Given the description of an element on the screen output the (x, y) to click on. 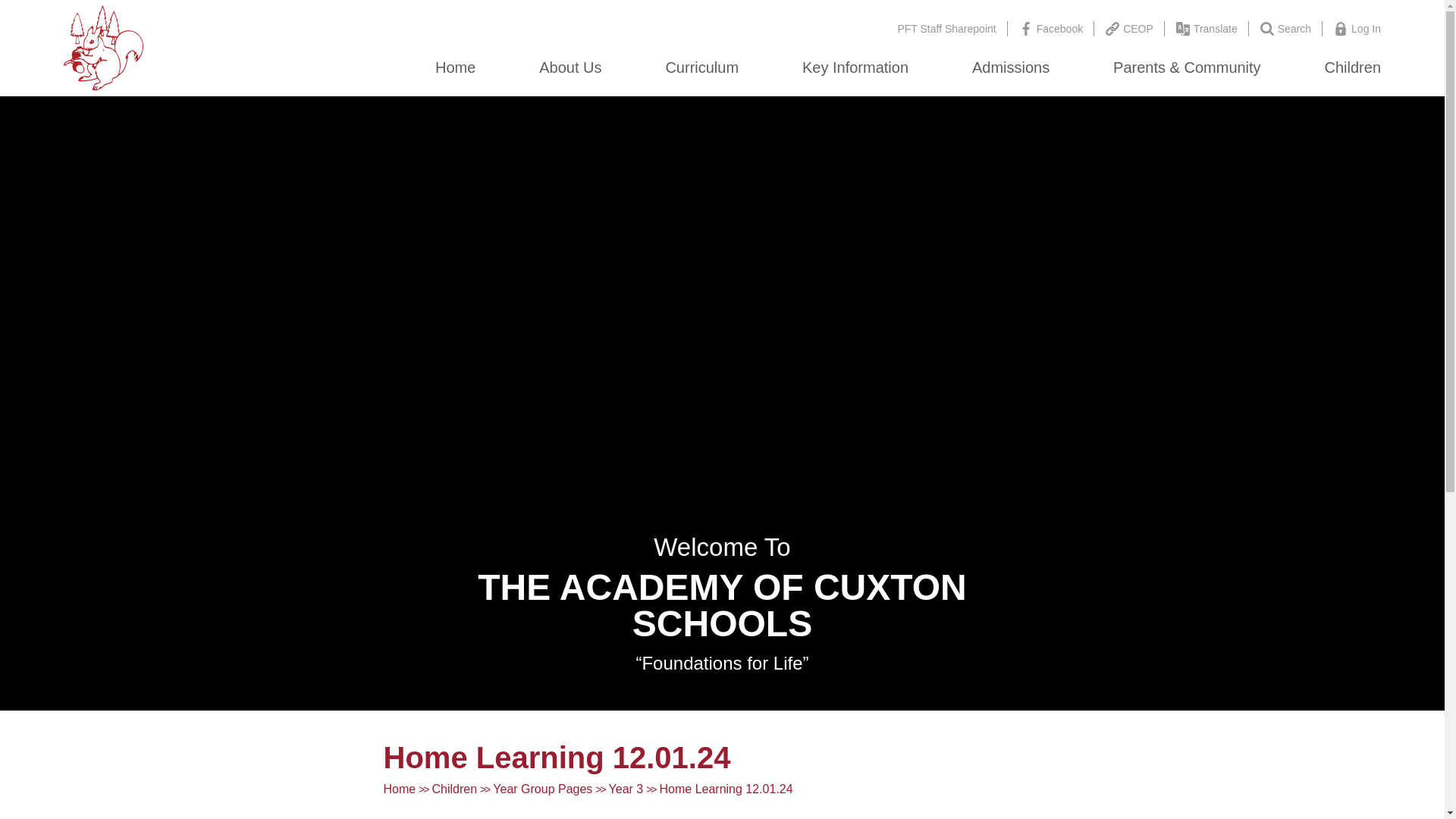
Home Page (104, 47)
CEOP (1129, 29)
Log in (1356, 29)
About Us (569, 67)
Facebook (1050, 29)
Home (455, 67)
Curriculum (701, 67)
PFT Staff Sharepoint (946, 29)
